Given the description of an element on the screen output the (x, y) to click on. 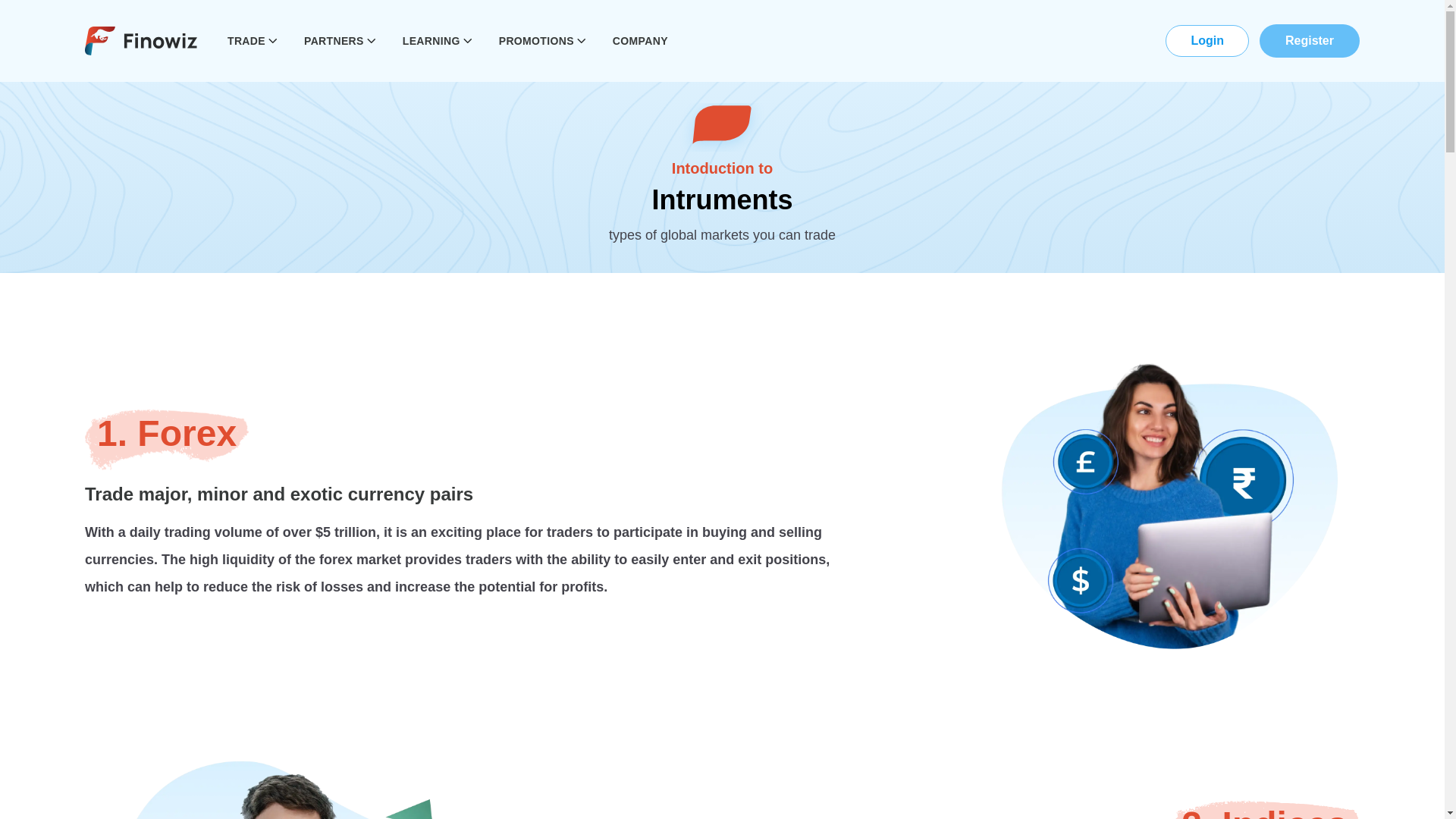
LEARNING (438, 40)
PROMOTIONS (543, 40)
Register (1309, 40)
PARTNERS (341, 40)
TRADE (253, 40)
Register (1309, 40)
Login (1207, 40)
COMPANY (640, 40)
Login (1207, 40)
